Given the description of an element on the screen output the (x, y) to click on. 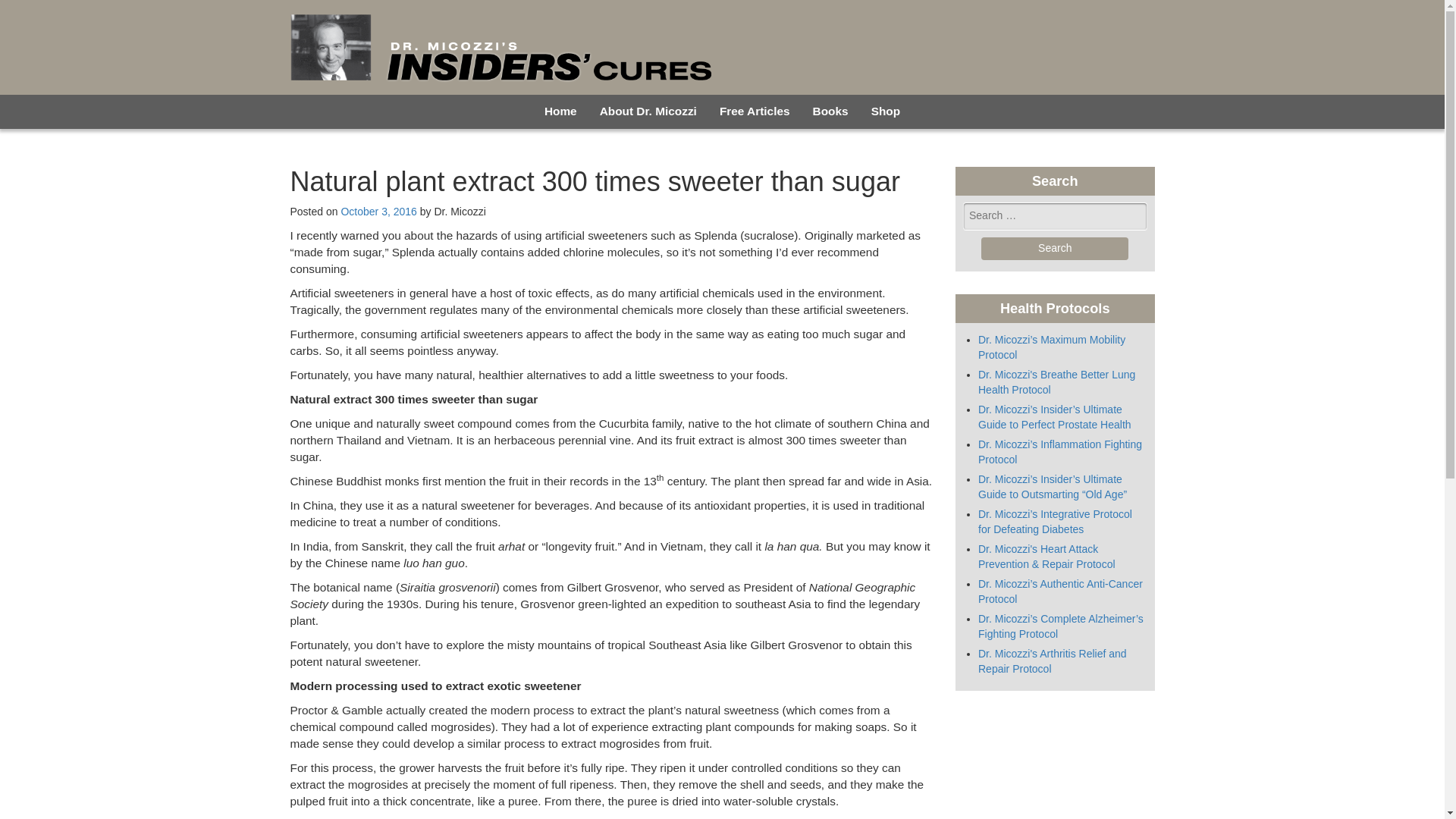
About Dr. Micozzi (647, 111)
Dr. Micozzi's Breathe Better Lung Health Protocol (1056, 381)
Home (560, 111)
Search (1054, 248)
Free Articles (754, 111)
October 3, 2016 (378, 211)
Free Articles (754, 111)
Shop (885, 111)
Search (1054, 248)
Home (560, 111)
